Given the description of an element on the screen output the (x, y) to click on. 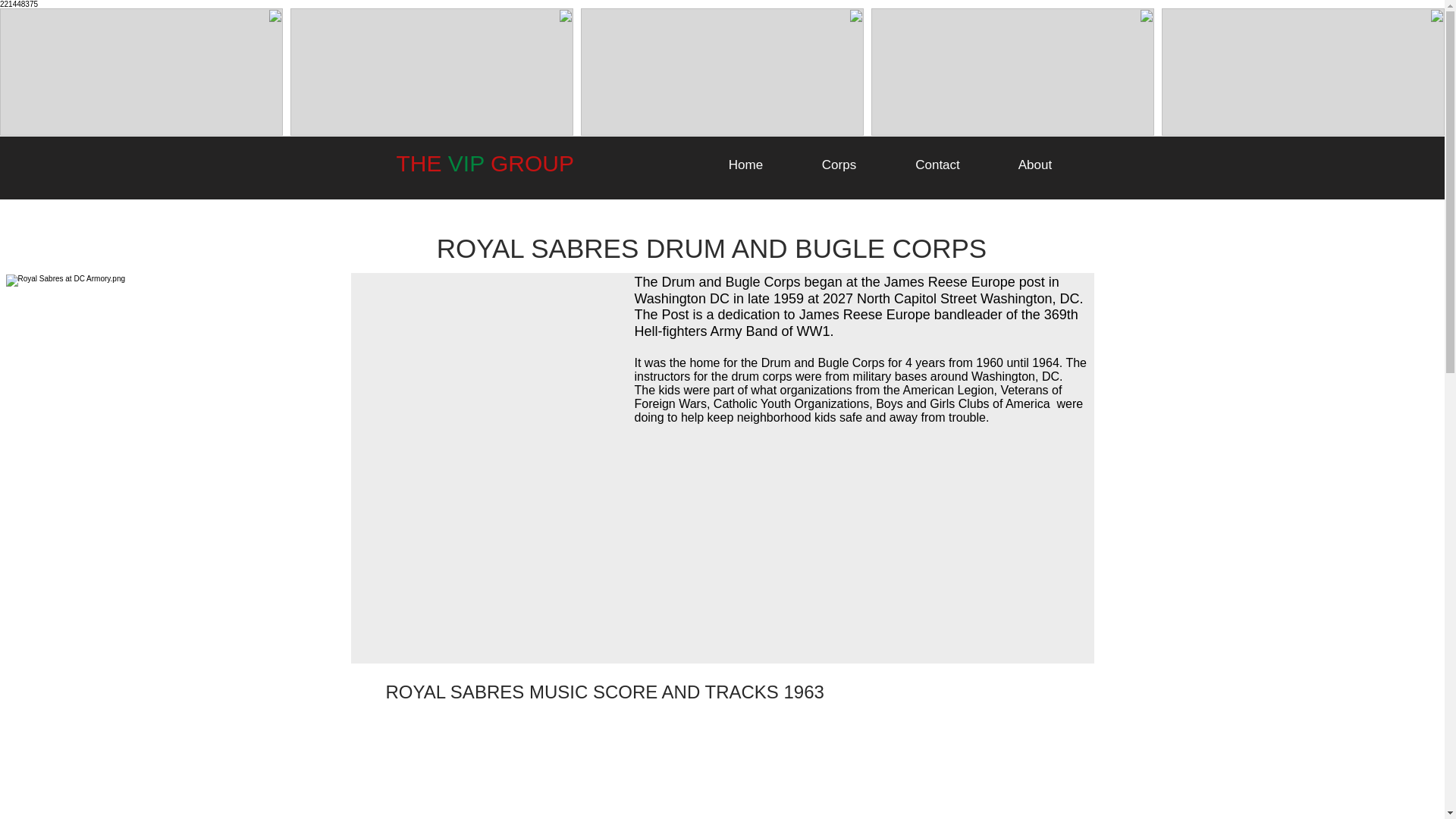
Contact (936, 164)
About (1034, 164)
THE VIP GROUP (484, 163)
Home (745, 164)
